Given the description of an element on the screen output the (x, y) to click on. 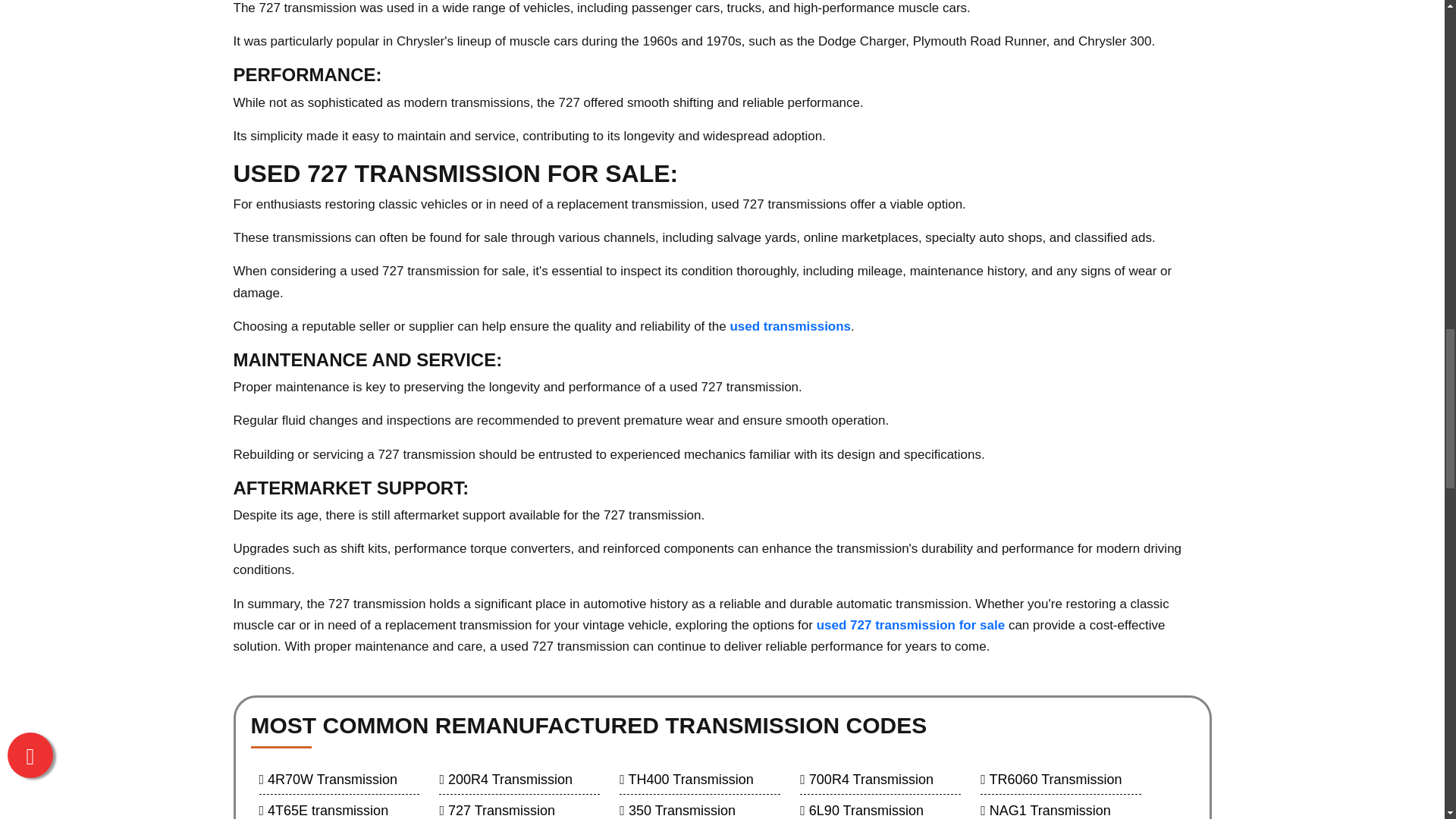
used 727 transmission for sale (911, 625)
used transmissions (789, 326)
